Given the description of an element on the screen output the (x, y) to click on. 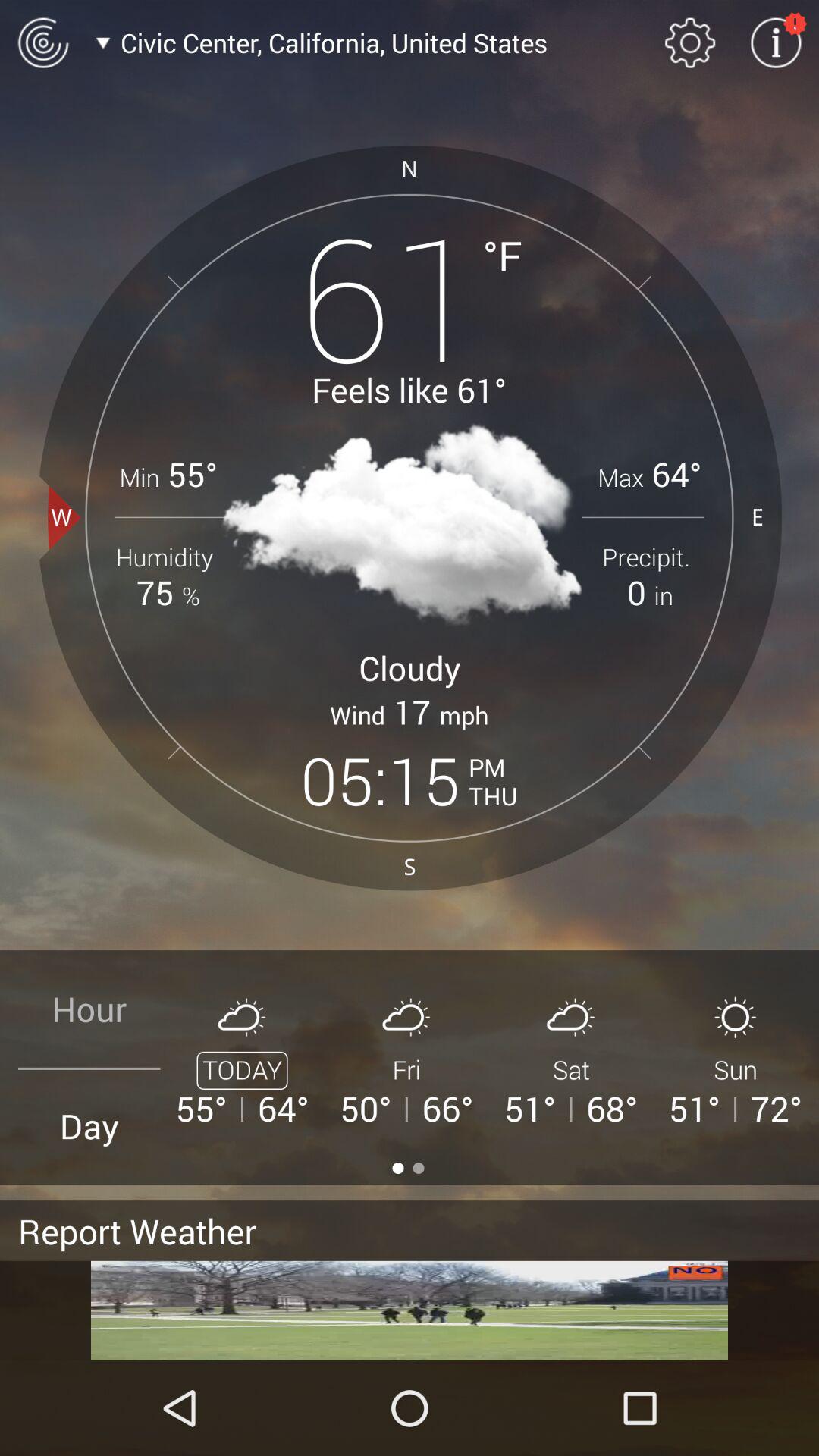
locate me (42, 42)
